Given the description of an element on the screen output the (x, y) to click on. 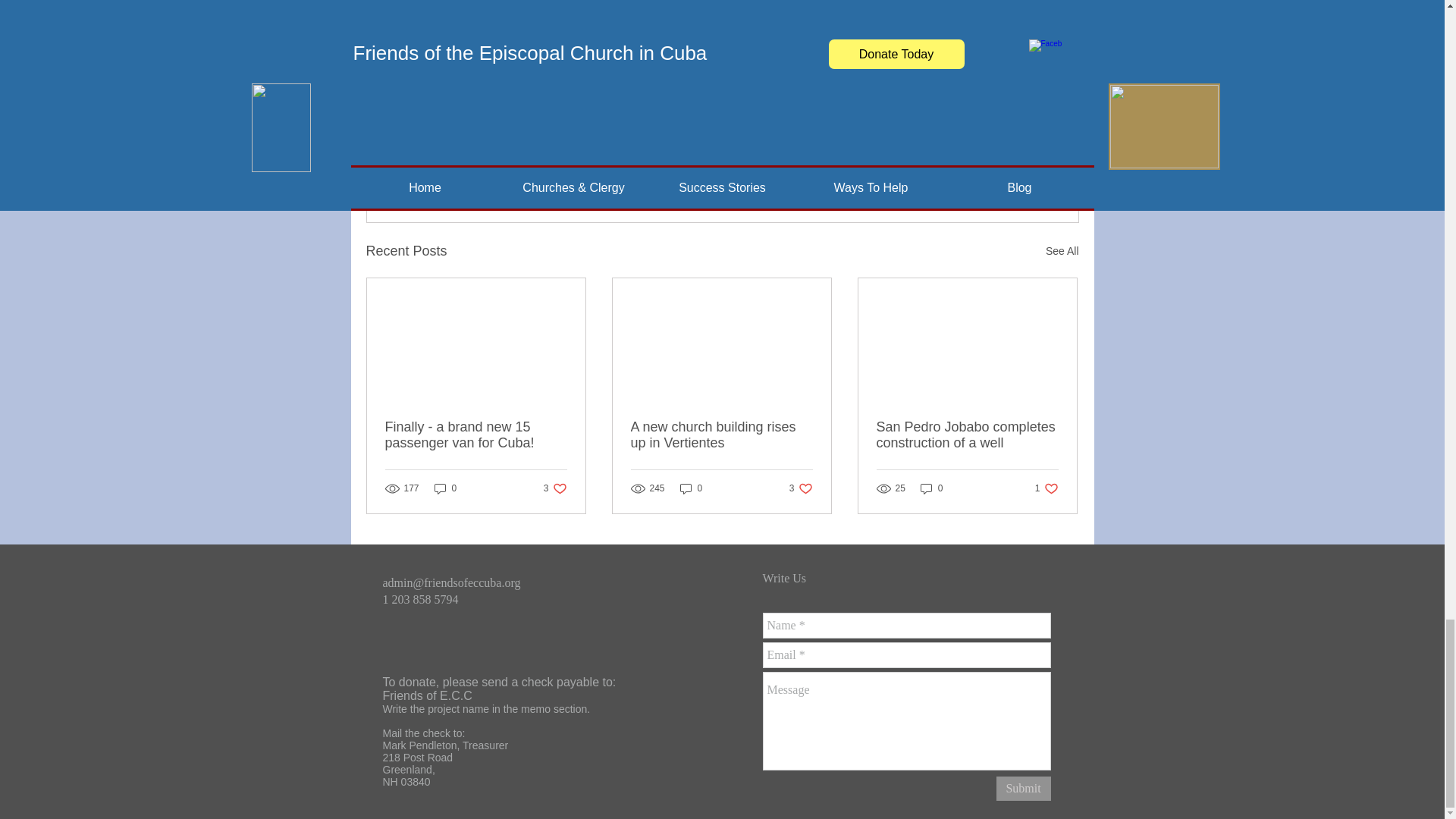
Post not marked as liked (995, 168)
See All (1061, 251)
0 (445, 487)
A new church building rises up in Vertientes (721, 435)
0 (1046, 487)
Finally - a brand new 15 passenger van for Cuba! (691, 487)
0 (476, 435)
